Given the description of an element on the screen output the (x, y) to click on. 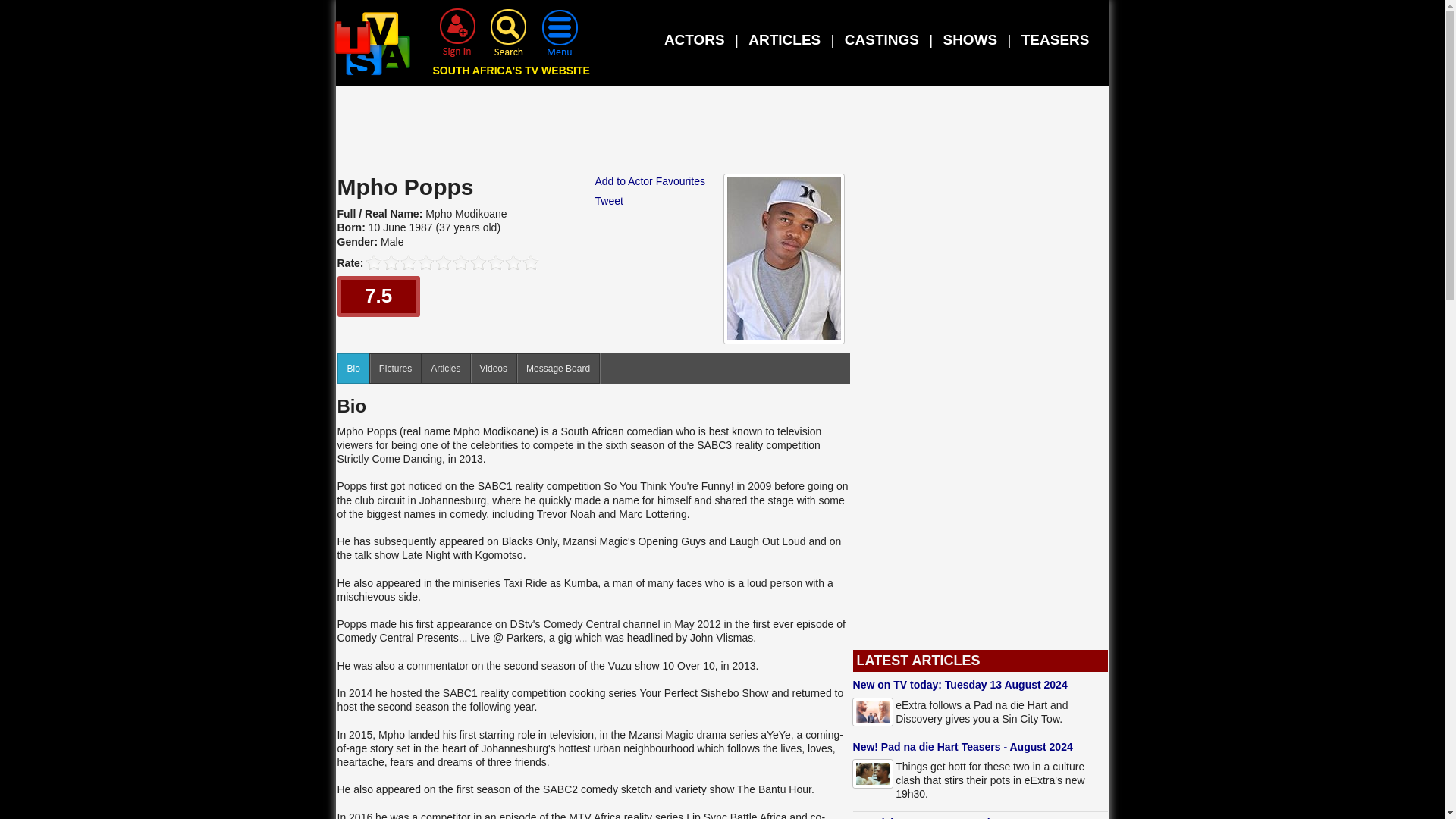
ACTORS (694, 39)
TEASERS (1055, 39)
SHOWS (969, 39)
CASTINGS (881, 39)
ARTICLES (784, 39)
Advertisement (722, 133)
